Given the description of an element on the screen output the (x, y) to click on. 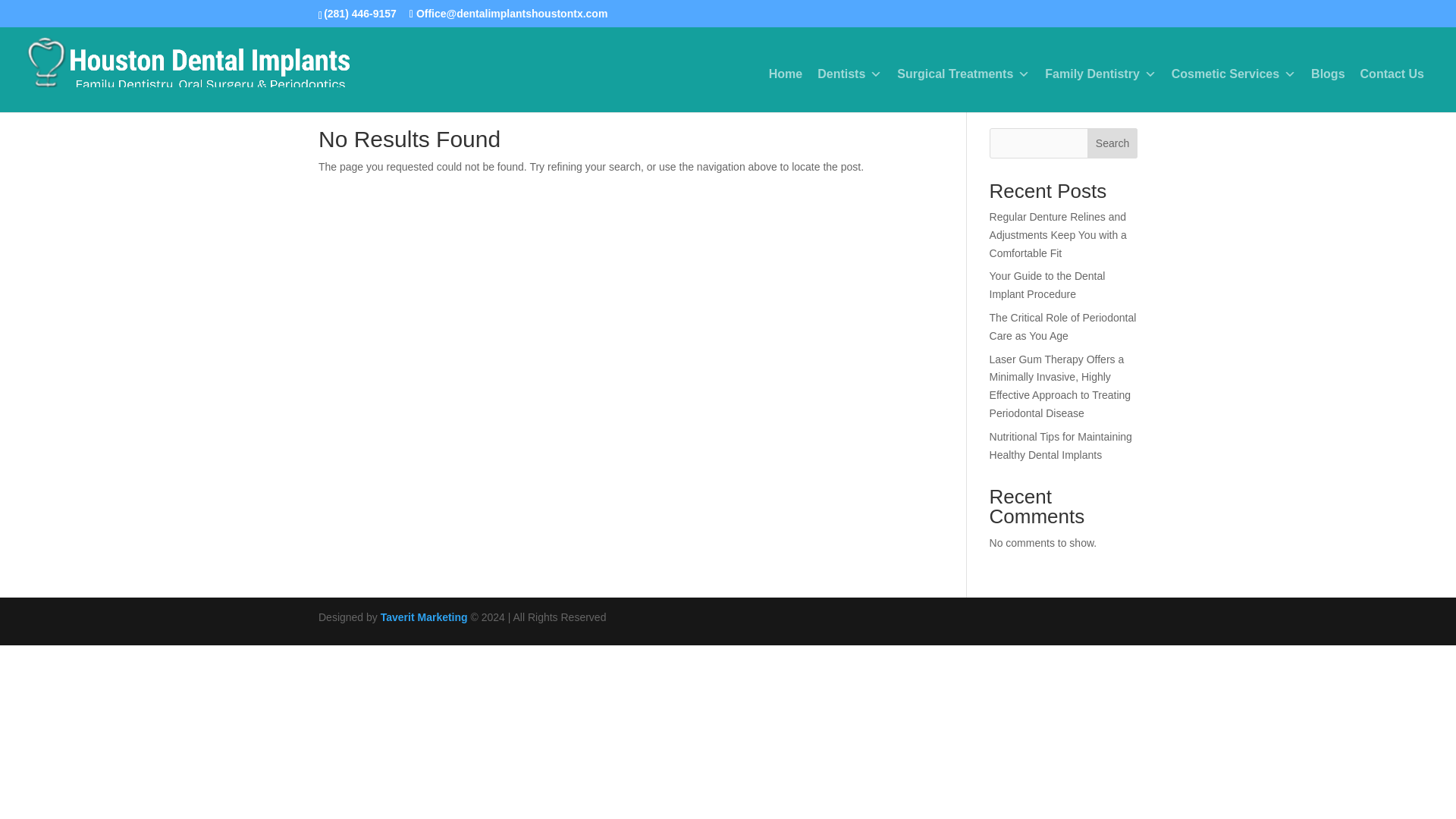
Contact Us (1391, 73)
Surgical Treatments (962, 73)
Cosmetic Services (1233, 73)
Home (785, 73)
Dentists (849, 73)
Family Dentistry (1099, 73)
Blogs (1327, 73)
